Given the description of an element on the screen output the (x, y) to click on. 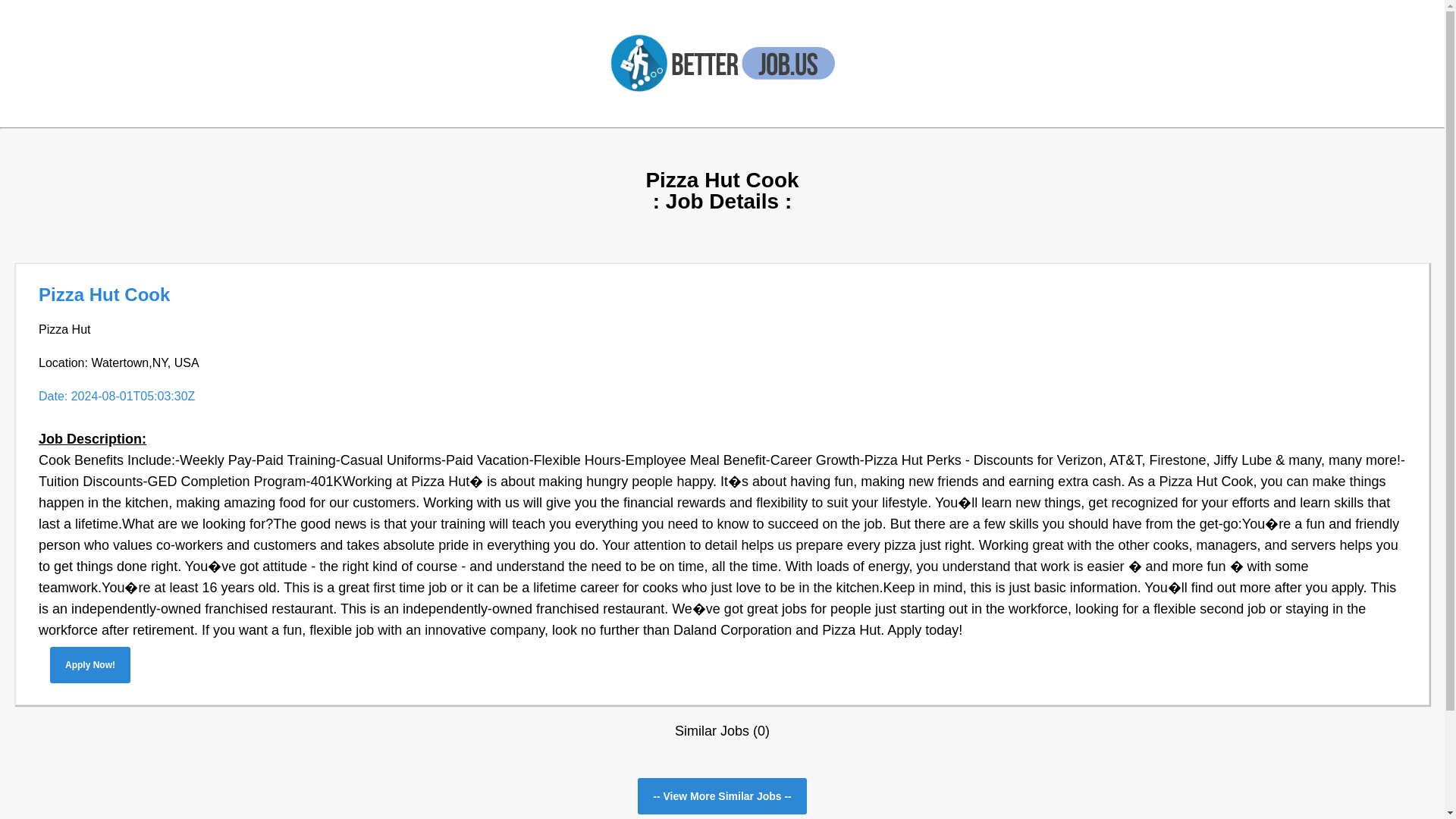
-- View More Similar Jobs -- (721, 796)
Apply Now! (90, 665)
Pizza Hut Cook (104, 294)
